Given the description of an element on the screen output the (x, y) to click on. 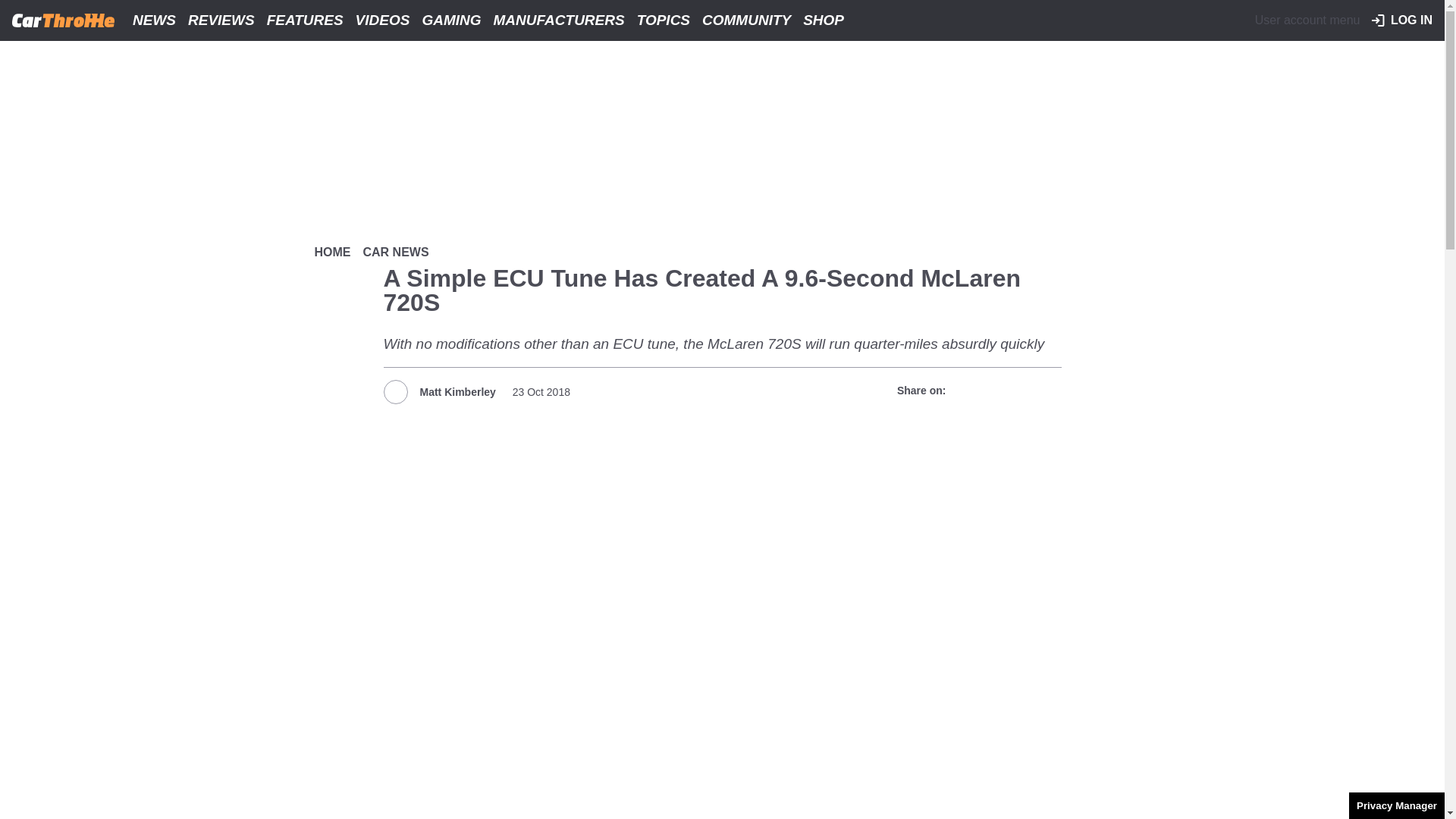
VIDEOS (382, 20)
Share to Facebook (965, 390)
FEATURES (304, 20)
MANUFACTURERS (558, 20)
NEWS (154, 20)
Share to Email (1047, 390)
GAMING (450, 20)
Share to X (993, 390)
